Given the description of an element on the screen output the (x, y) to click on. 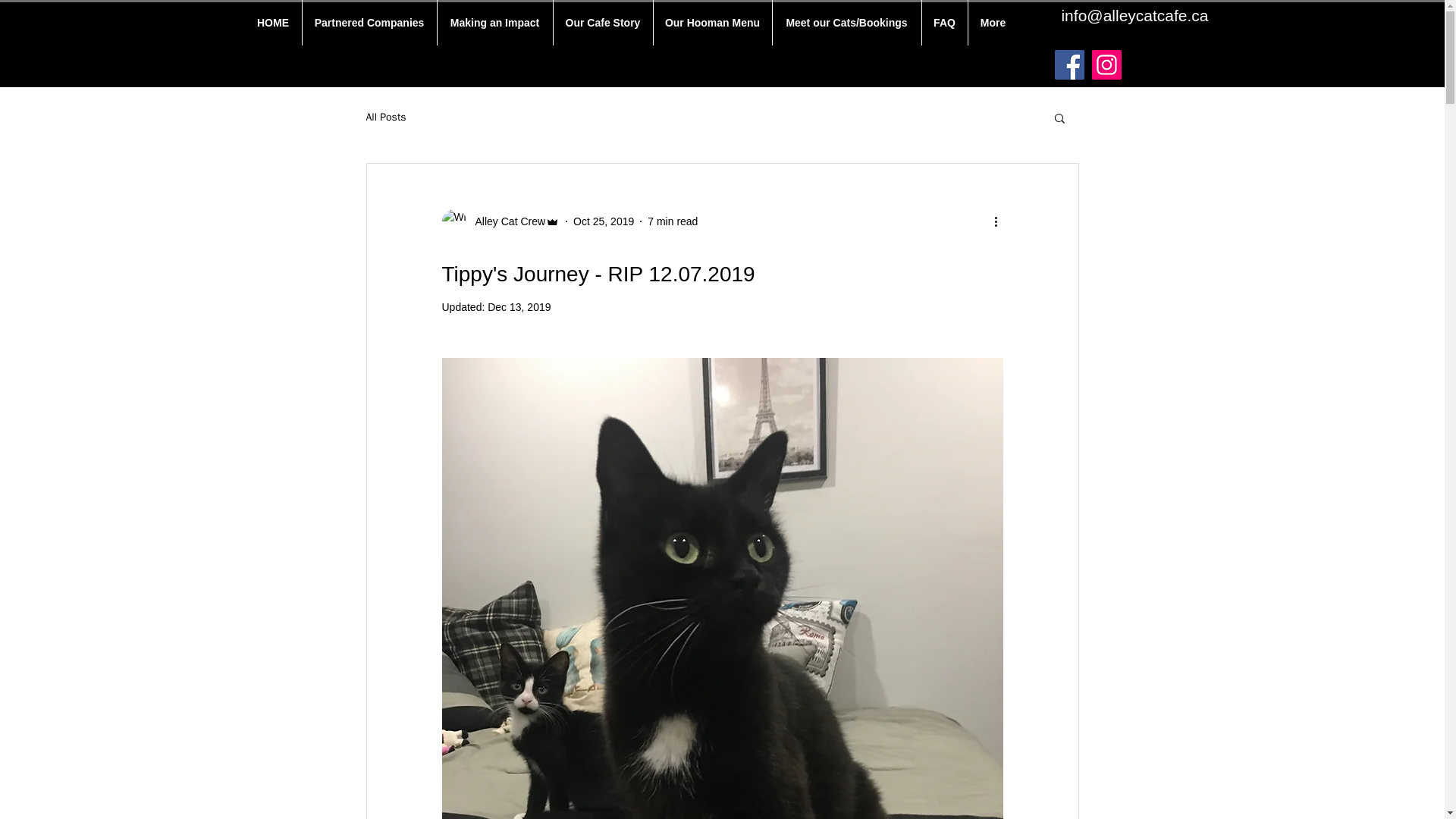
Our Hooman Menu (712, 22)
7 min read (672, 221)
Alley Cat Crew (504, 221)
Alley Cat Crew (500, 221)
FAQ (944, 22)
Making an Impact (493, 22)
Our Cafe Story (602, 22)
Partnered Companies (368, 22)
Dec 13, 2019 (518, 306)
Oct 25, 2019 (603, 221)
